Given the description of an element on the screen output the (x, y) to click on. 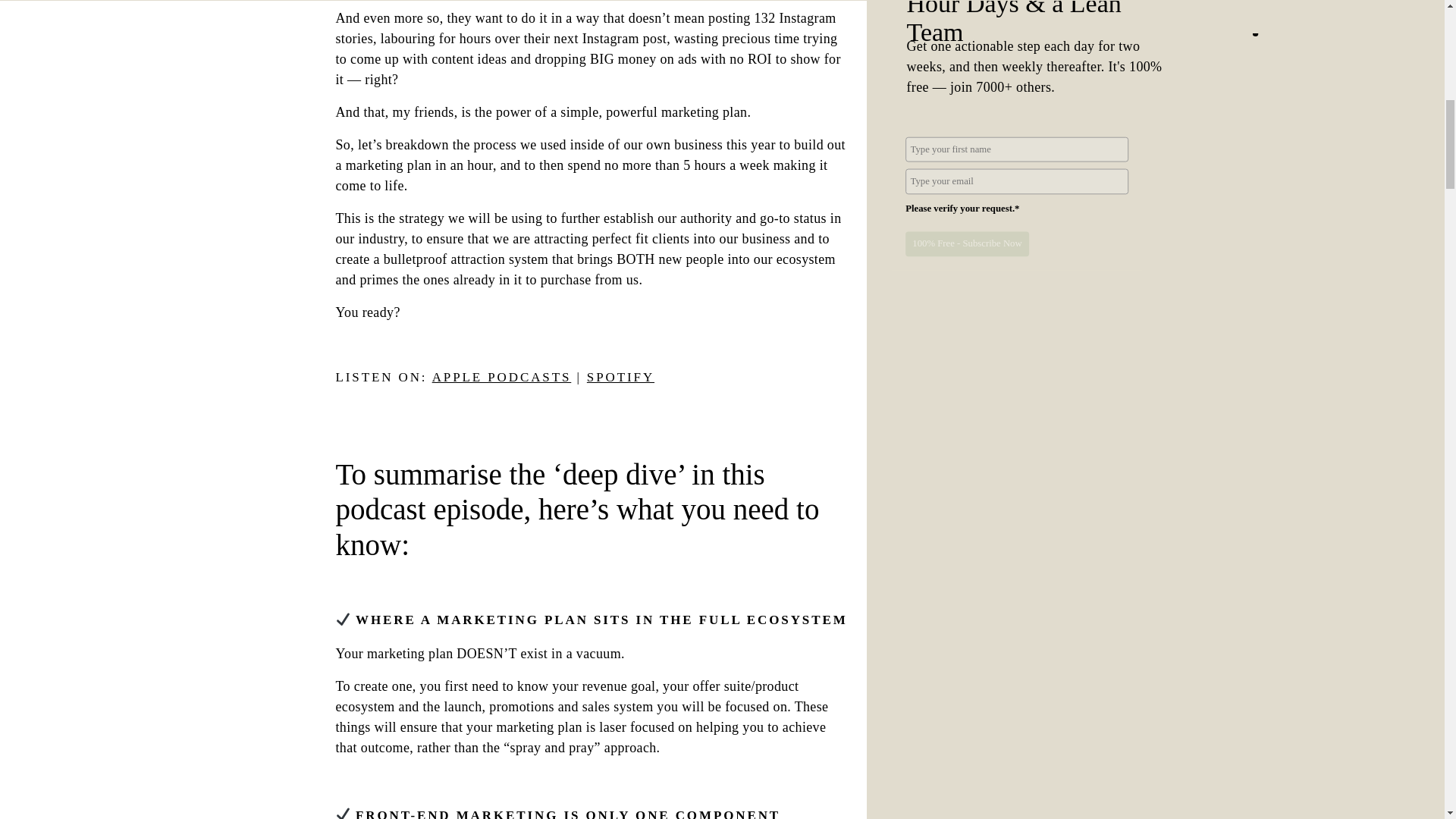
APPLE PODCASTS (502, 377)
SPOTIFY (619, 377)
